Given the description of an element on the screen output the (x, y) to click on. 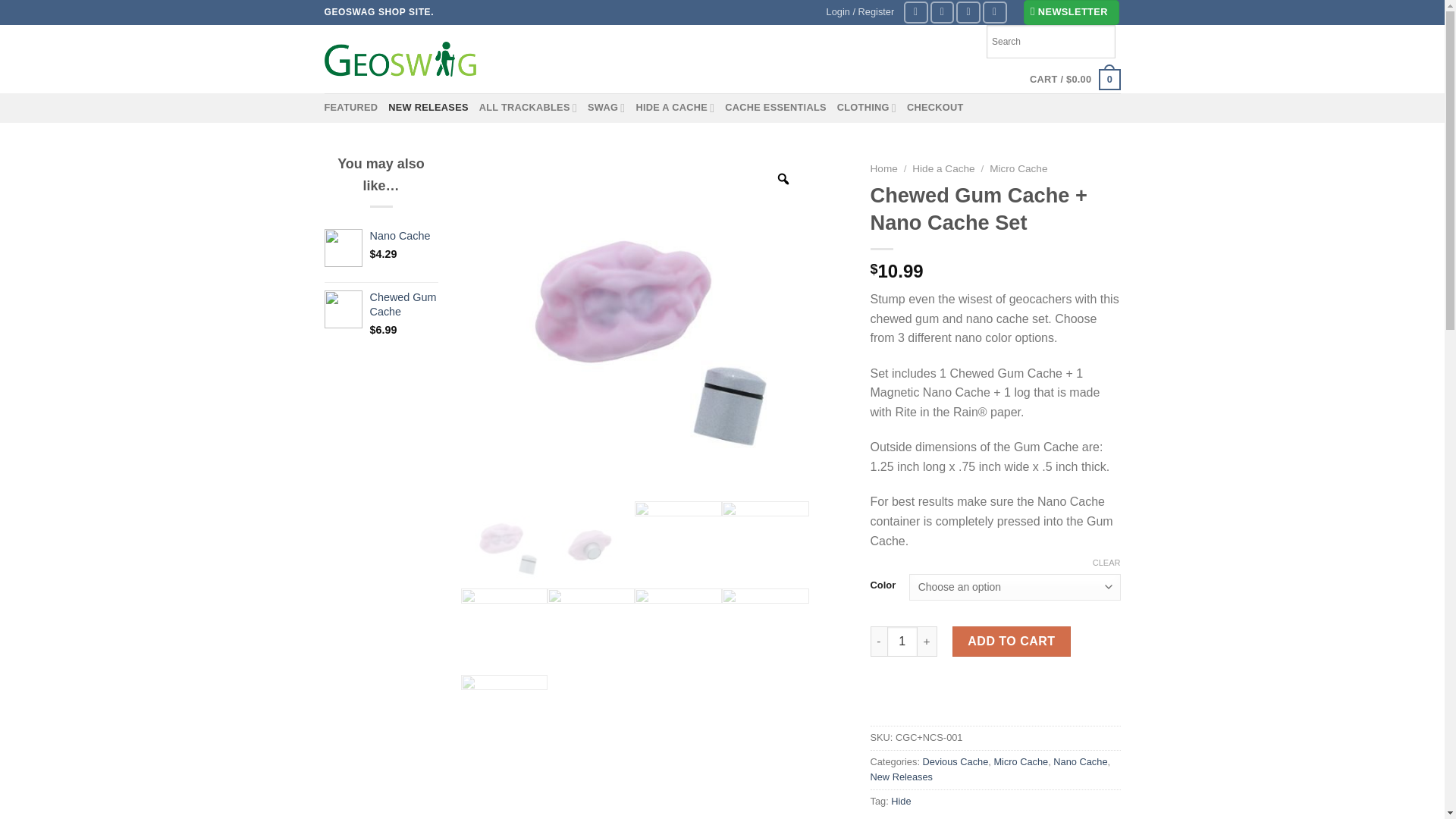
HIDE A CACHE (674, 107)
ALL TRACKABLES (527, 107)
FEATURED (351, 107)
Geoswag - Shop Geoswag (400, 58)
NEW RELEASES (427, 107)
Call us (994, 12)
Chewed Gum Cache (403, 304)
1 (901, 641)
CLOTHING (866, 107)
CHECKOUT (935, 107)
Follow on Instagram (941, 12)
Follow on Facebook (916, 12)
CACHE ESSENTIALS (776, 107)
NEWSLETTER (1071, 12)
SWAG (606, 107)
